Given the description of an element on the screen output the (x, y) to click on. 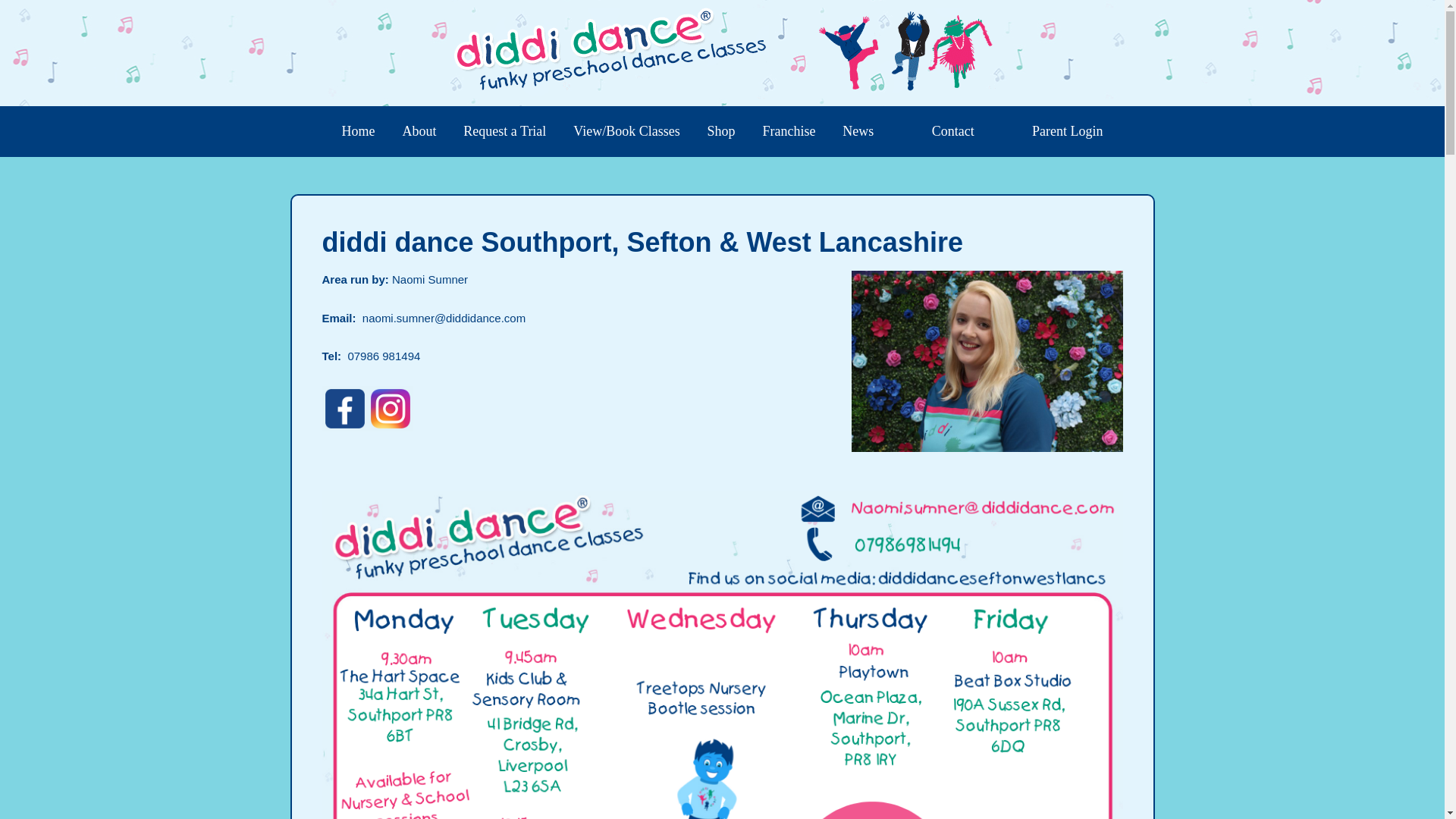
Franchise (788, 131)
Contact (953, 131)
Shop (721, 131)
Request a Trial (504, 131)
News (857, 131)
About (419, 131)
Parent Login (1067, 131)
Home (358, 131)
DIDDI DANCE (721, 52)
